Given the description of an element on the screen output the (x, y) to click on. 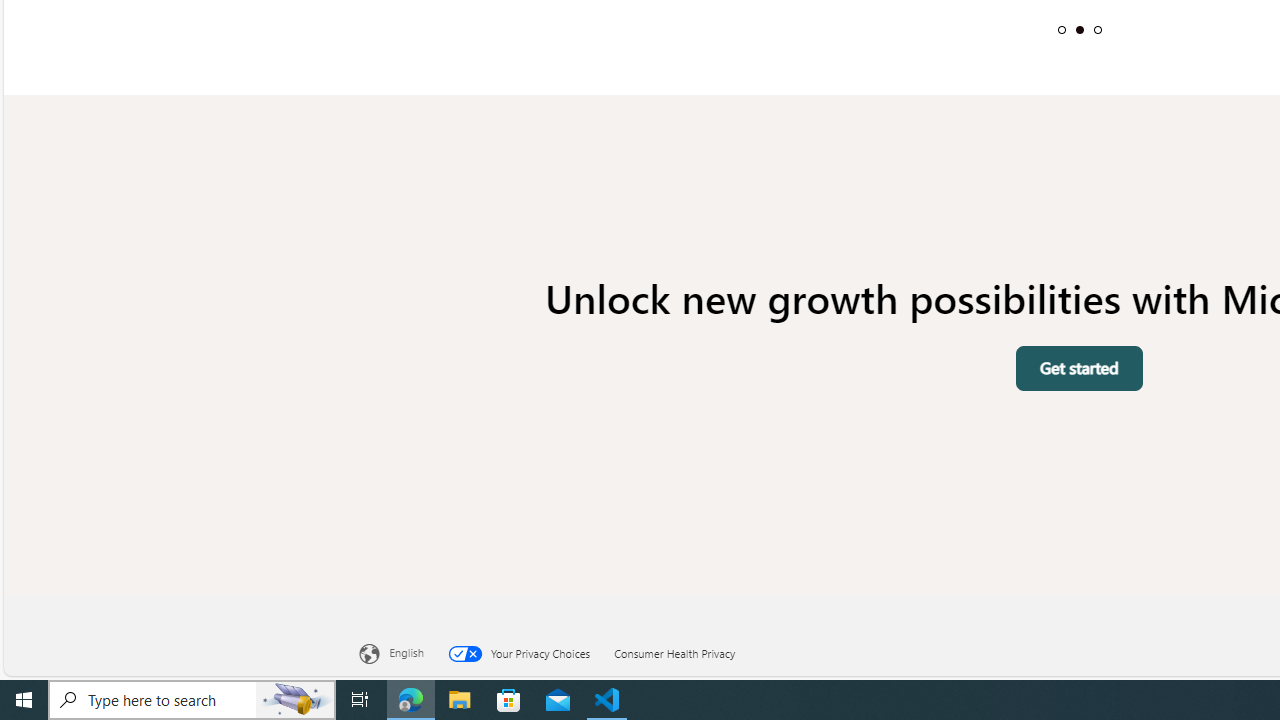
Your Privacy Choices Opt-Out Icon Your Privacy Choices (531, 650)
Slide 1 (1061, 29)
Get started (1079, 368)
Consumer Health Privacy (687, 650)
Your Privacy Choices Opt-Out Icon (469, 653)
Slide 2 (1079, 29)
Slide 3 (1097, 29)
